Given the description of an element on the screen output the (x, y) to click on. 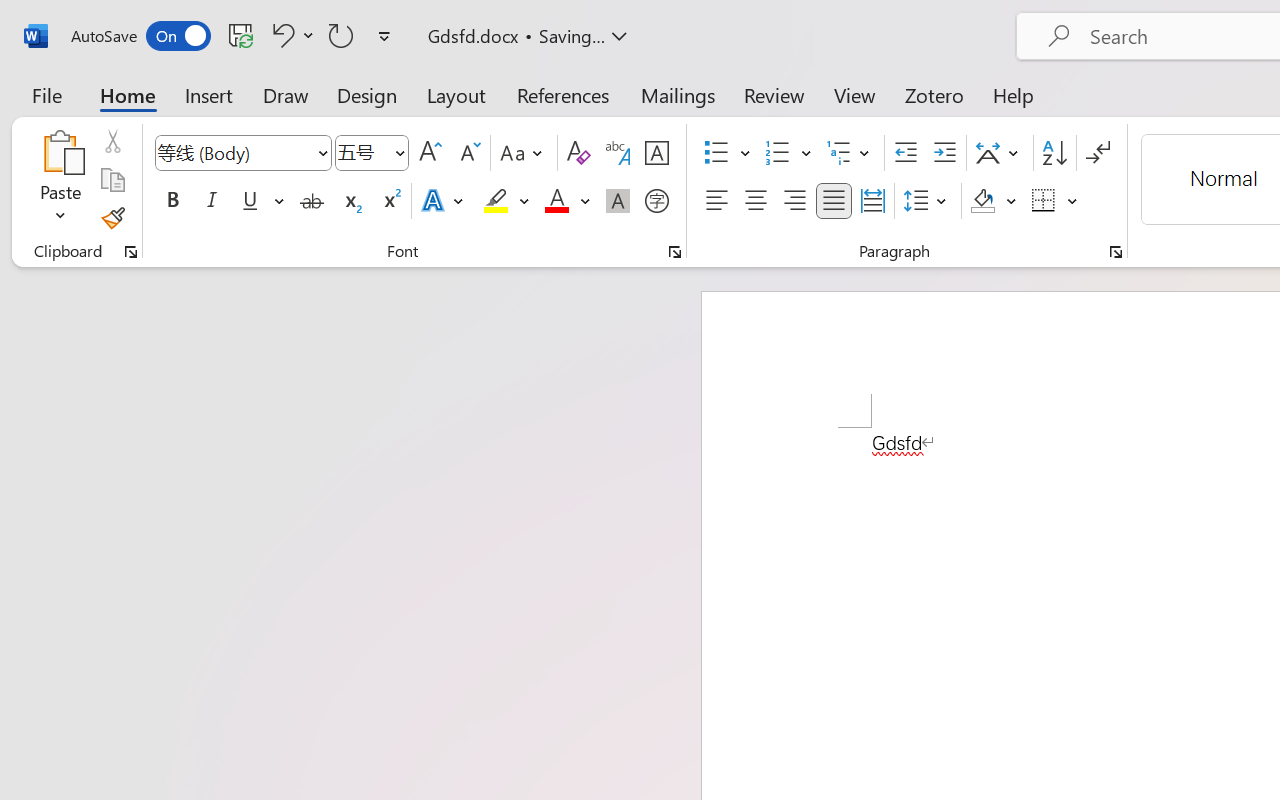
Increase Indent (944, 153)
Asian Layout (1000, 153)
Format Painter (112, 218)
Font... (675, 252)
Strikethrough (312, 201)
Font Color Red (556, 201)
Sort... (1054, 153)
Italic (212, 201)
Line and Paragraph Spacing (927, 201)
